Given the description of an element on the screen output the (x, y) to click on. 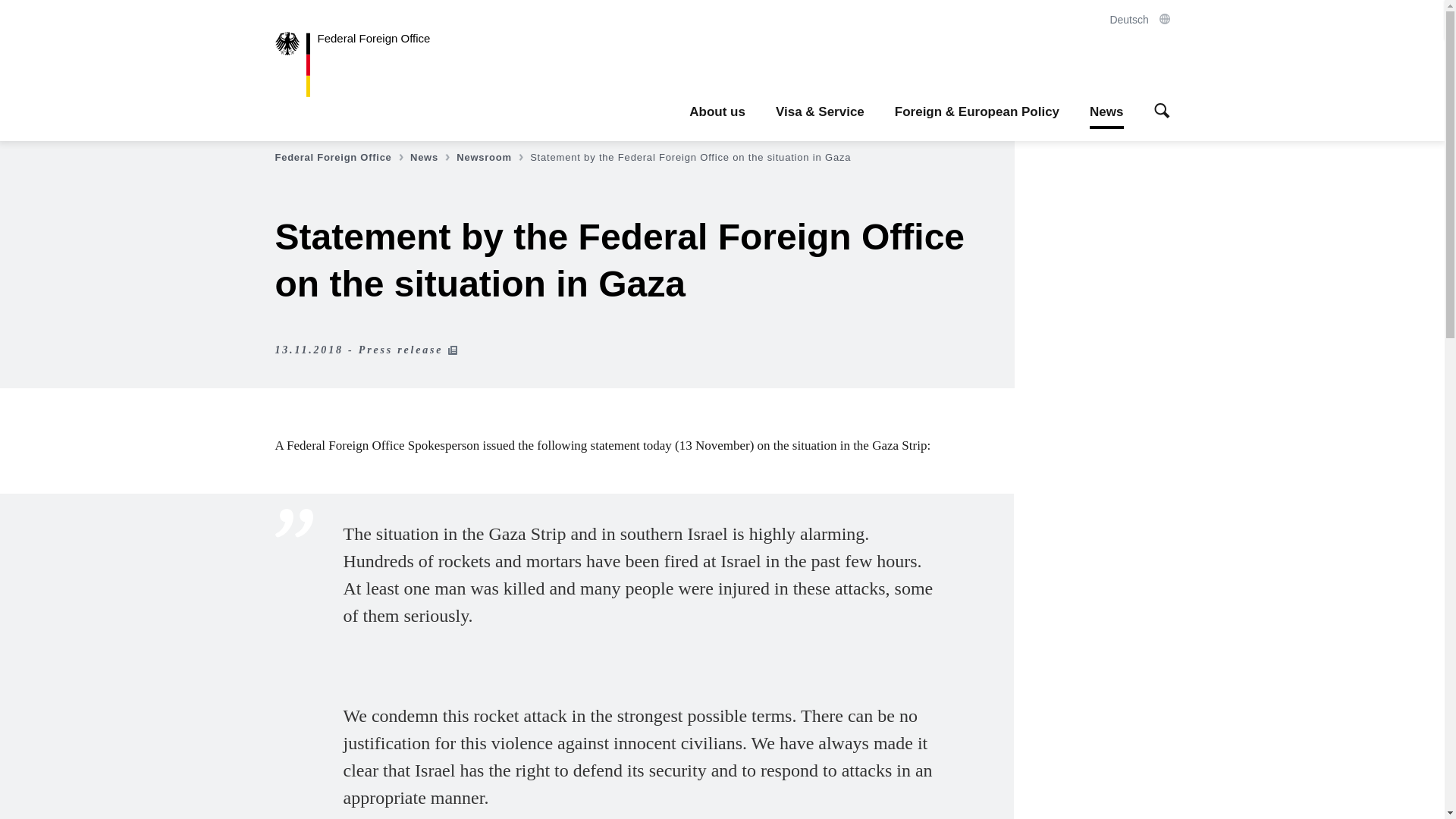
Deutsch (1139, 19)
Federal Foreign Office (363, 64)
Federal Foreign Office (340, 157)
About us (716, 111)
Newsroom (491, 157)
Deutsch (1139, 19)
Federal Foreign Office (363, 64)
News (431, 157)
